Given the description of an element on the screen output the (x, y) to click on. 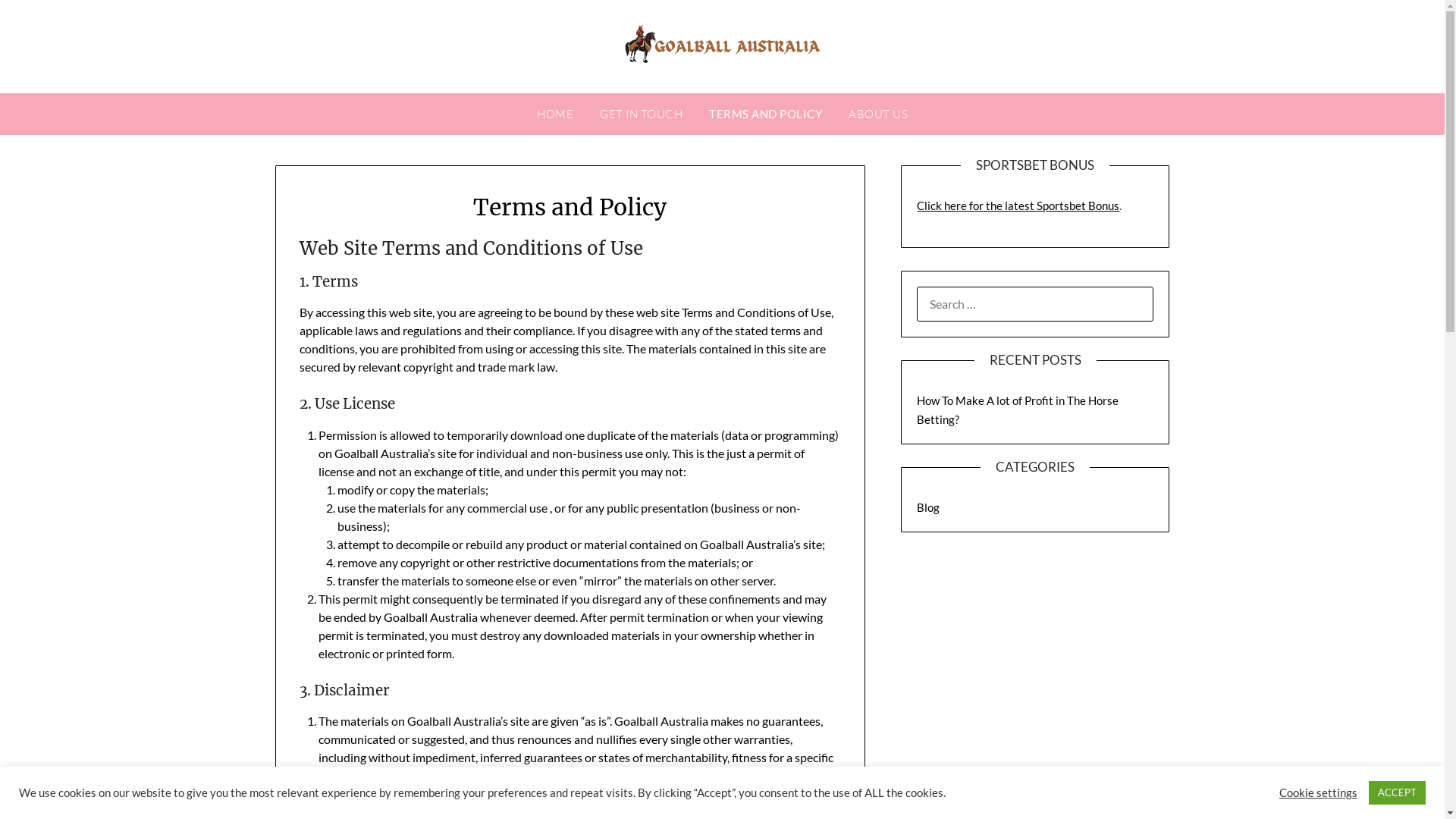
Cookie settings Element type: text (1318, 792)
Blog Element type: text (927, 507)
HOME Element type: text (554, 114)
Search Element type: text (38, 21)
TERMS AND POLICY Element type: text (765, 113)
ABOUT US Element type: text (877, 114)
How To Make A lot of Profit in The Horse Betting? Element type: text (1017, 409)
GET IN TOUCH Element type: text (640, 114)
ACCEPT Element type: text (1396, 792)
Click here for the latest Sportsbet Bonus Element type: text (1017, 205)
